Given the description of an element on the screen output the (x, y) to click on. 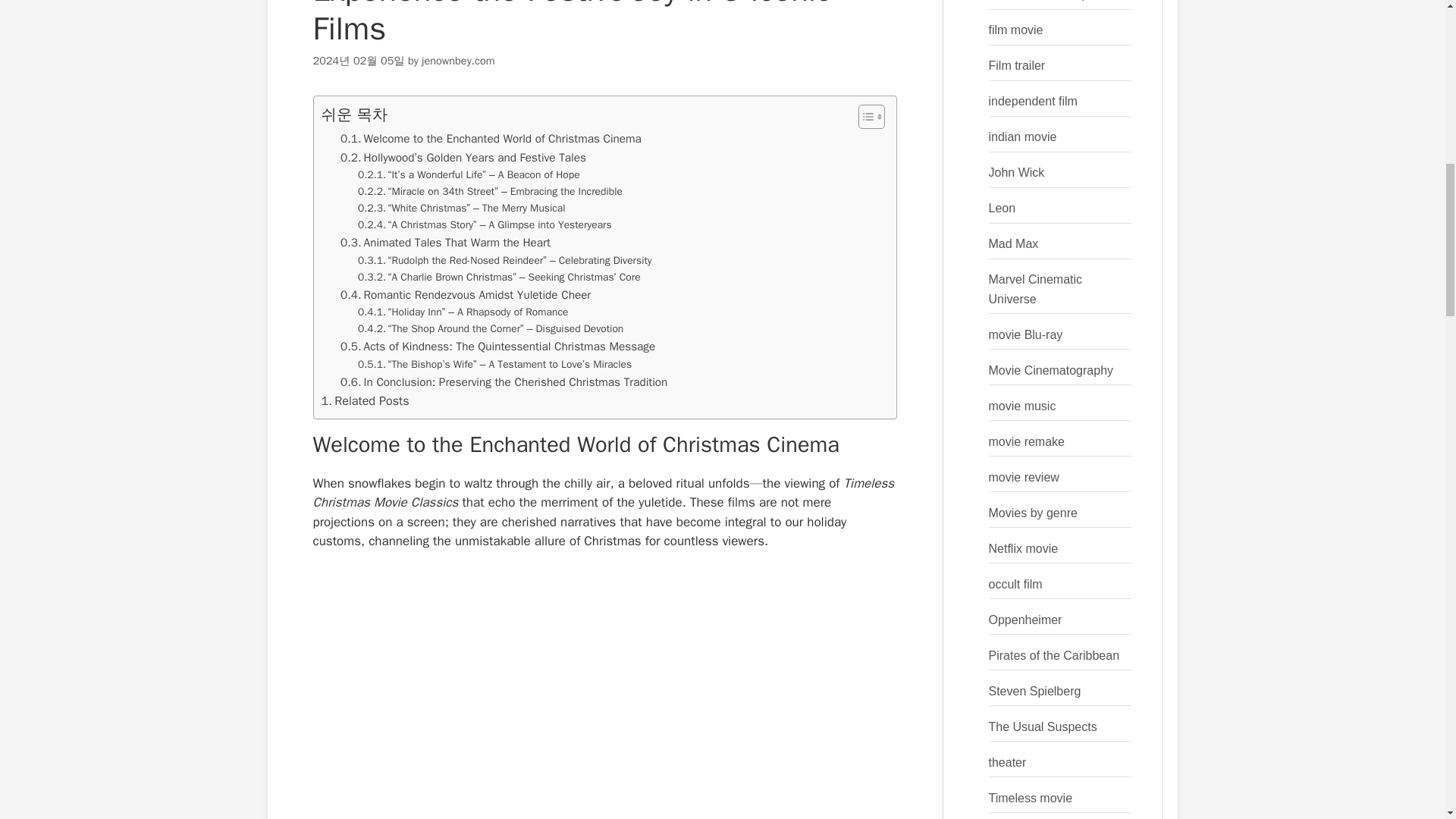
View all posts by jenownbey.com (458, 60)
Animated Tales That Warm the Heart (445, 242)
Romantic Rendezvous Amidst Yuletide Cheer (465, 294)
Acts of Kindness: The Quintessential Christmas Message (497, 346)
Animated Tales That Warm the Heart (445, 242)
Welcome to the Enchanted World of Christmas Cinema (491, 138)
Acts of Kindness: The Quintessential Christmas Message (497, 346)
Related Posts (365, 401)
In Conclusion: Preserving the Cherished Christmas Tradition (503, 382)
jenownbey.com (458, 60)
